Given the description of an element on the screen output the (x, y) to click on. 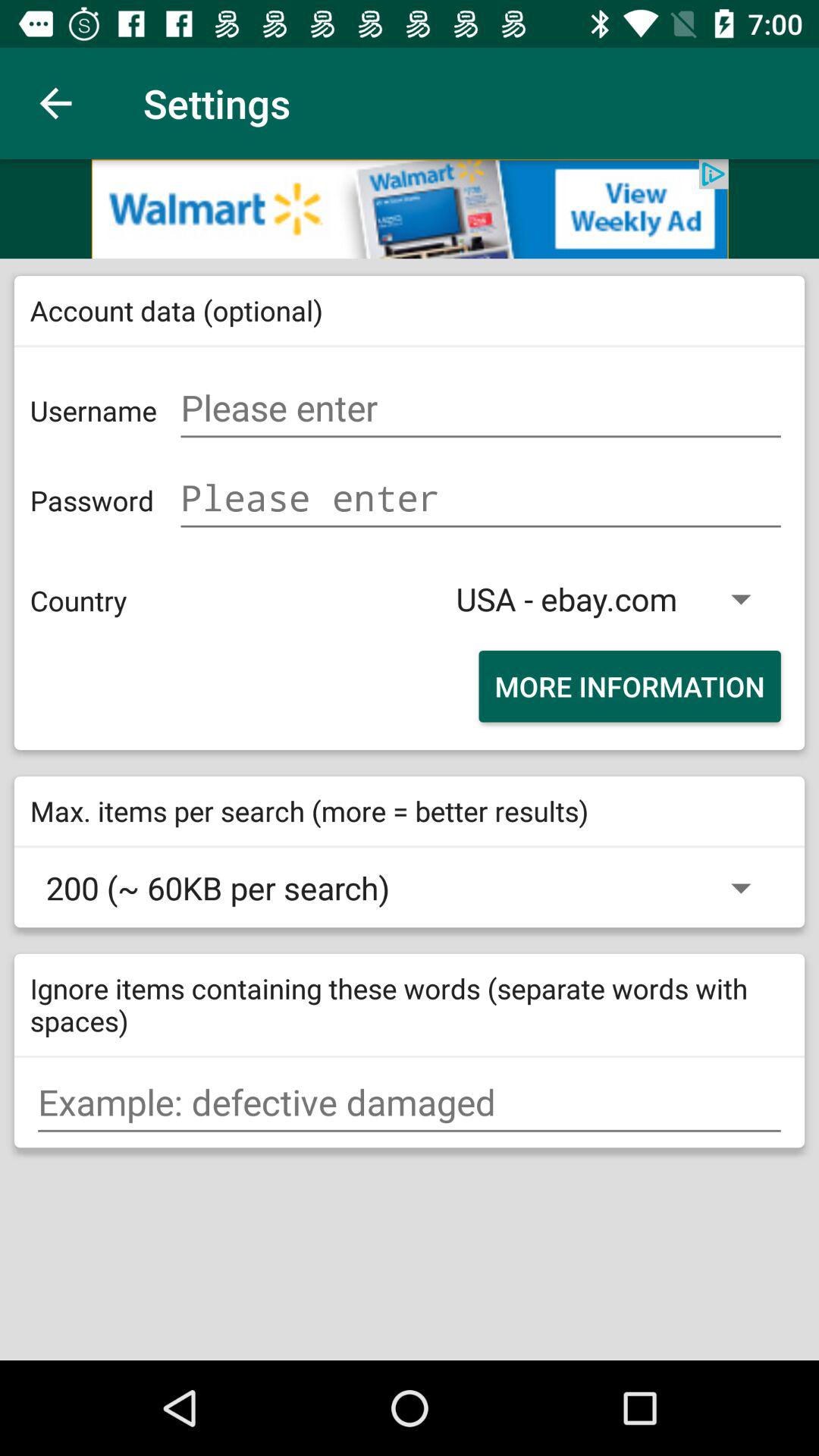
enter example (409, 1102)
